Given the description of an element on the screen output the (x, y) to click on. 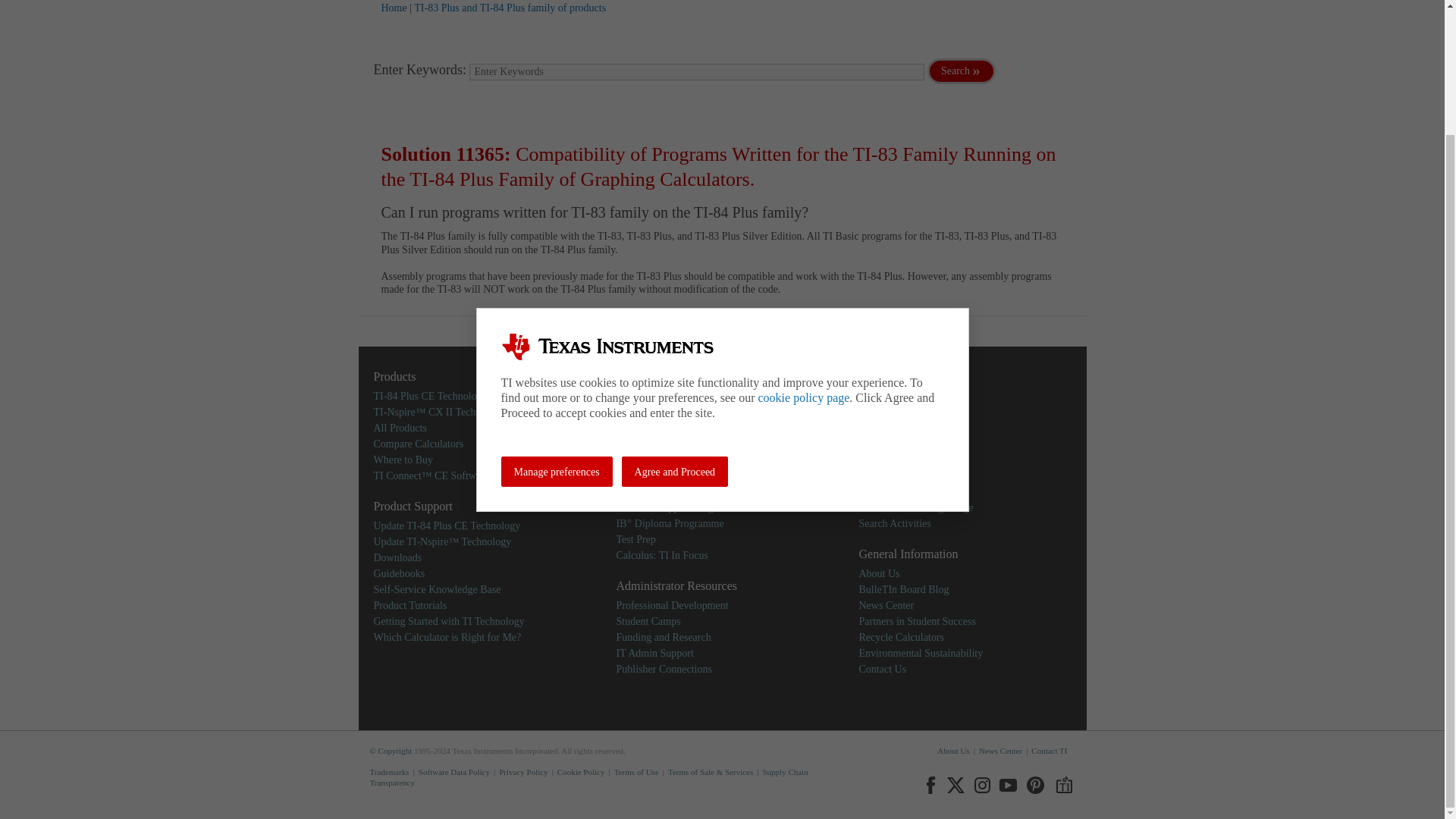
All Products (399, 427)
Self-Service Knowledge Base  (436, 589)
Guidebooks (398, 572)
Downloads (397, 557)
Update TI-Nspire Technology (441, 541)
Compare Calculators (417, 443)
Math (627, 395)
Where to Buy (402, 459)
Product Tutorials (409, 604)
Science (632, 411)
Getting Started with TI Technology (448, 621)
TI-84 Plus CE Technology (429, 395)
TI Connect CE Software (430, 475)
Which Calculator is Right for Me? (446, 636)
Update TI-84 Plus CE Technology (445, 525)
